Given the description of an element on the screen output the (x, y) to click on. 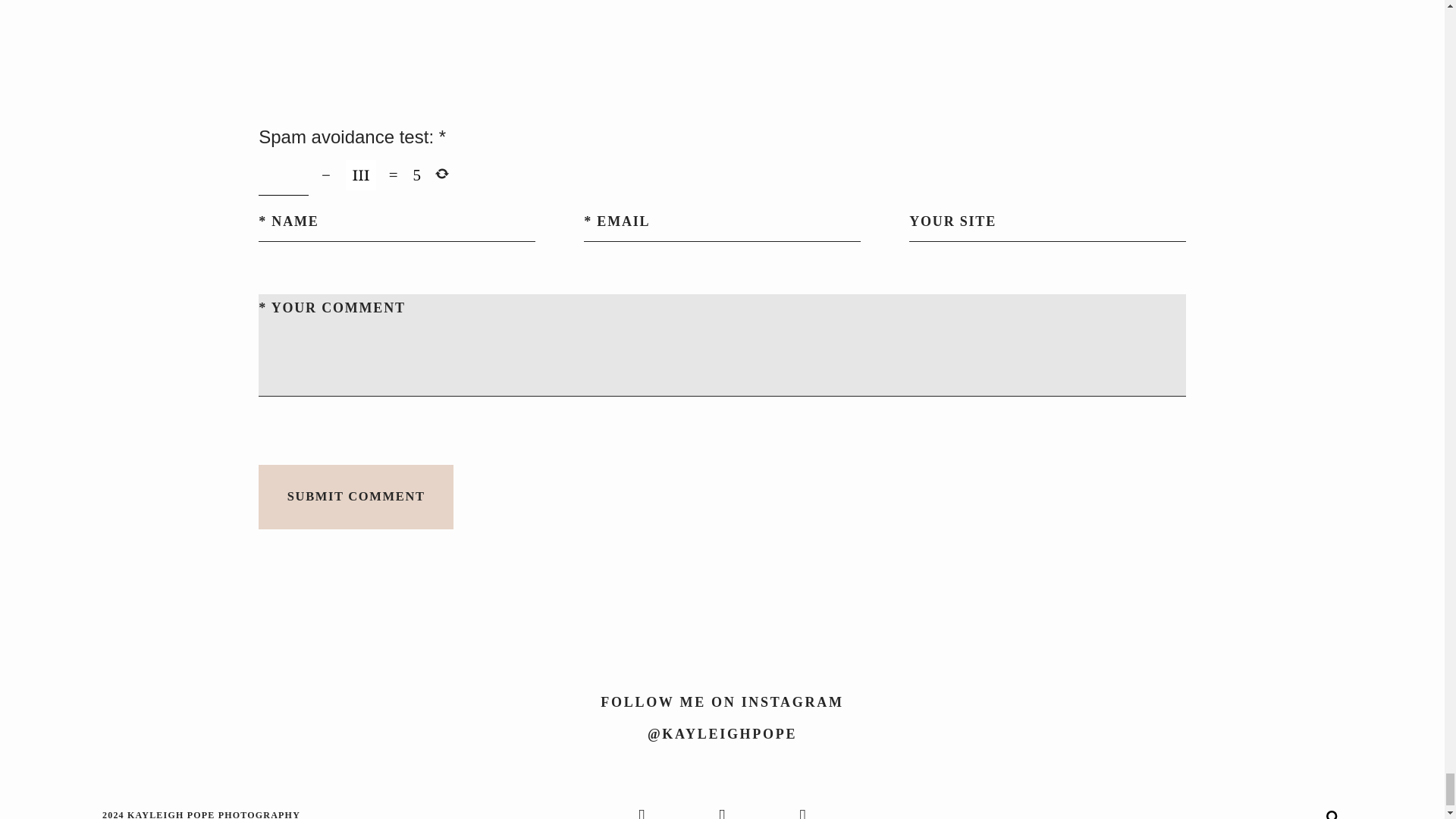
Sorry, your browser does not support inline SVG. (1331, 814)
